Given the description of an element on the screen output the (x, y) to click on. 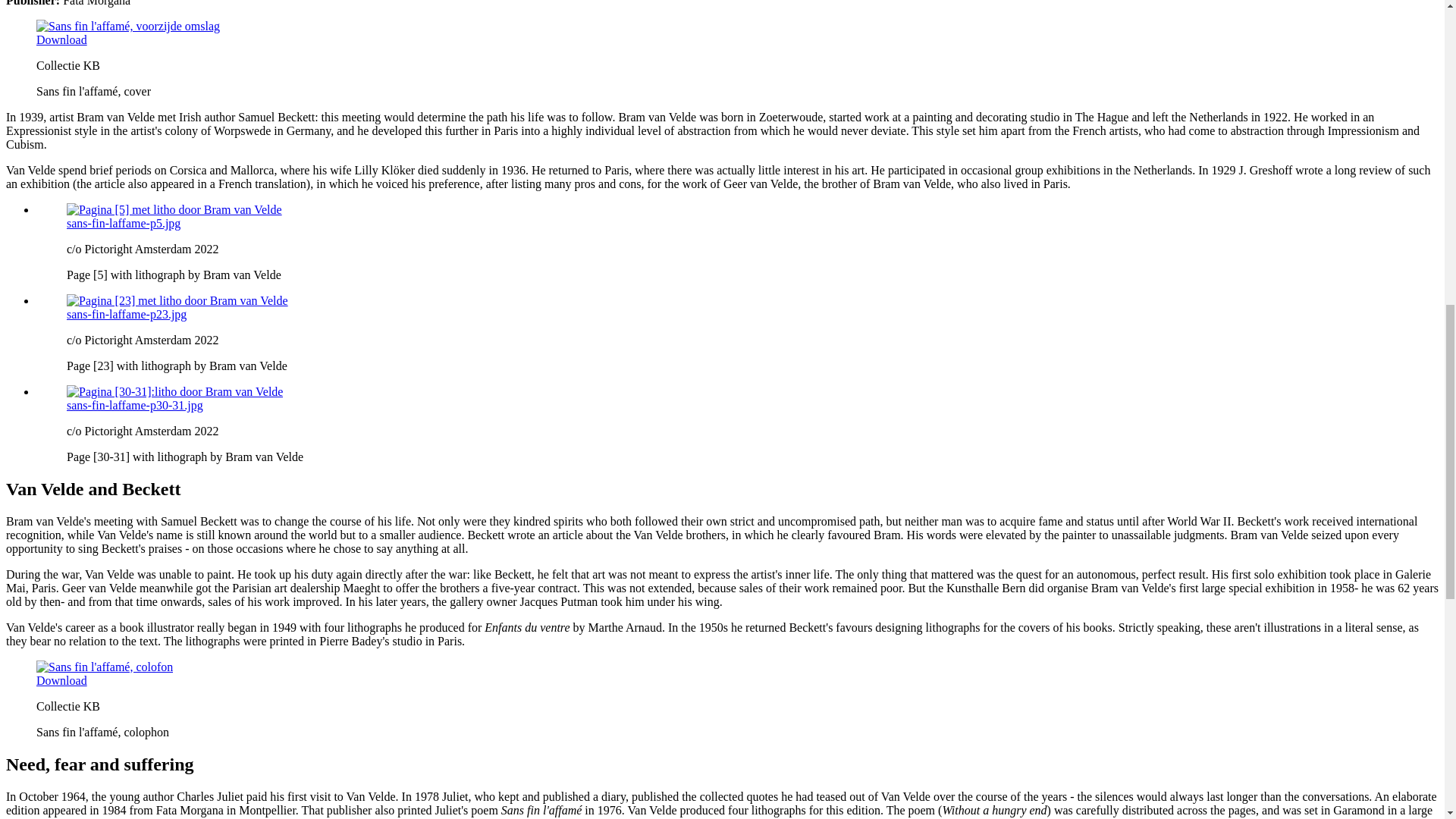
sans-fin-laffame-p23.jpg (126, 314)
Download (61, 39)
sans-fin-laffame-p5.jpg (123, 223)
sans-fin-laffame-p30-31.jpg (134, 404)
Download (61, 680)
sans-fin-laffame-omslag.jpg (61, 39)
sans-fin-laffame-colofon.jpg (61, 680)
